Given the description of an element on the screen output the (x, y) to click on. 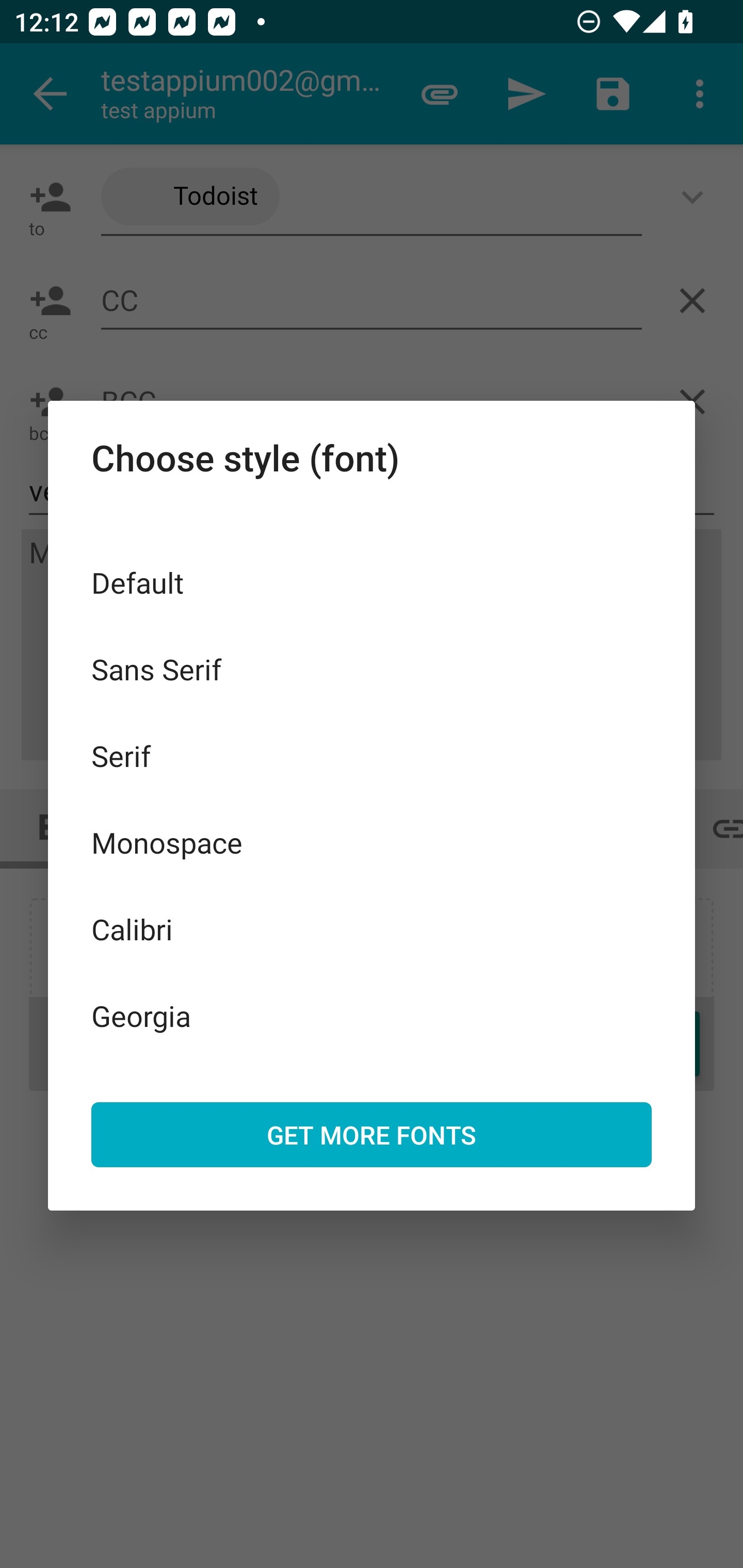
Default (371, 582)
Sans Serif (371, 668)
Serif (371, 755)
Monospace (371, 842)
Calibri (371, 928)
Georgia (371, 1015)
GET MORE FONTS (371, 1134)
